Given the description of an element on the screen output the (x, y) to click on. 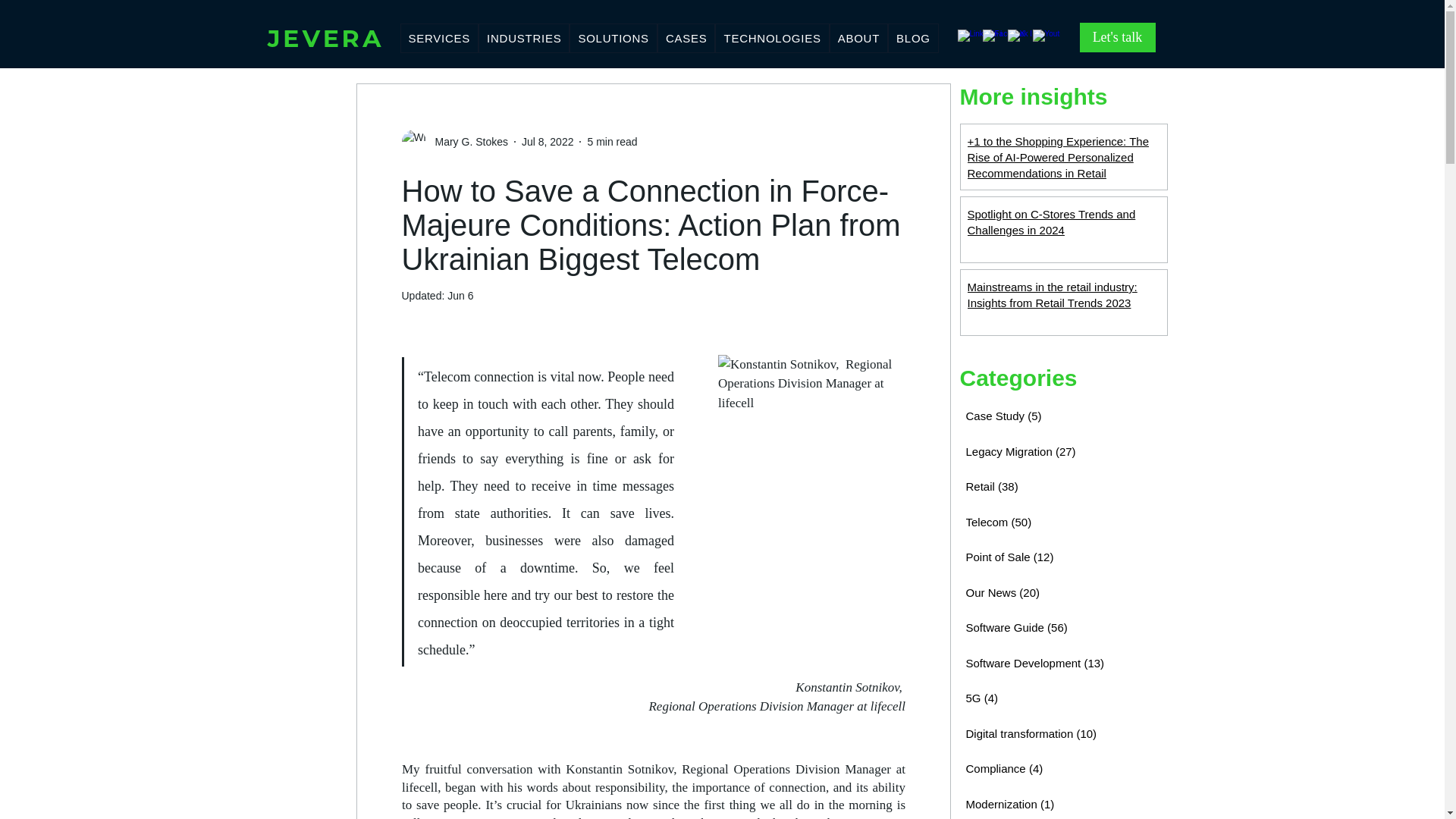
Jun 6 (459, 295)
CASES (687, 38)
ABOUT (858, 38)
Mary G. Stokes (467, 141)
5 min read (611, 141)
Jul 8, 2022 (547, 141)
SERVICES (439, 38)
INDUSTRIES (524, 38)
TECHNOLOGIES (771, 38)
